Given the description of an element on the screen output the (x, y) to click on. 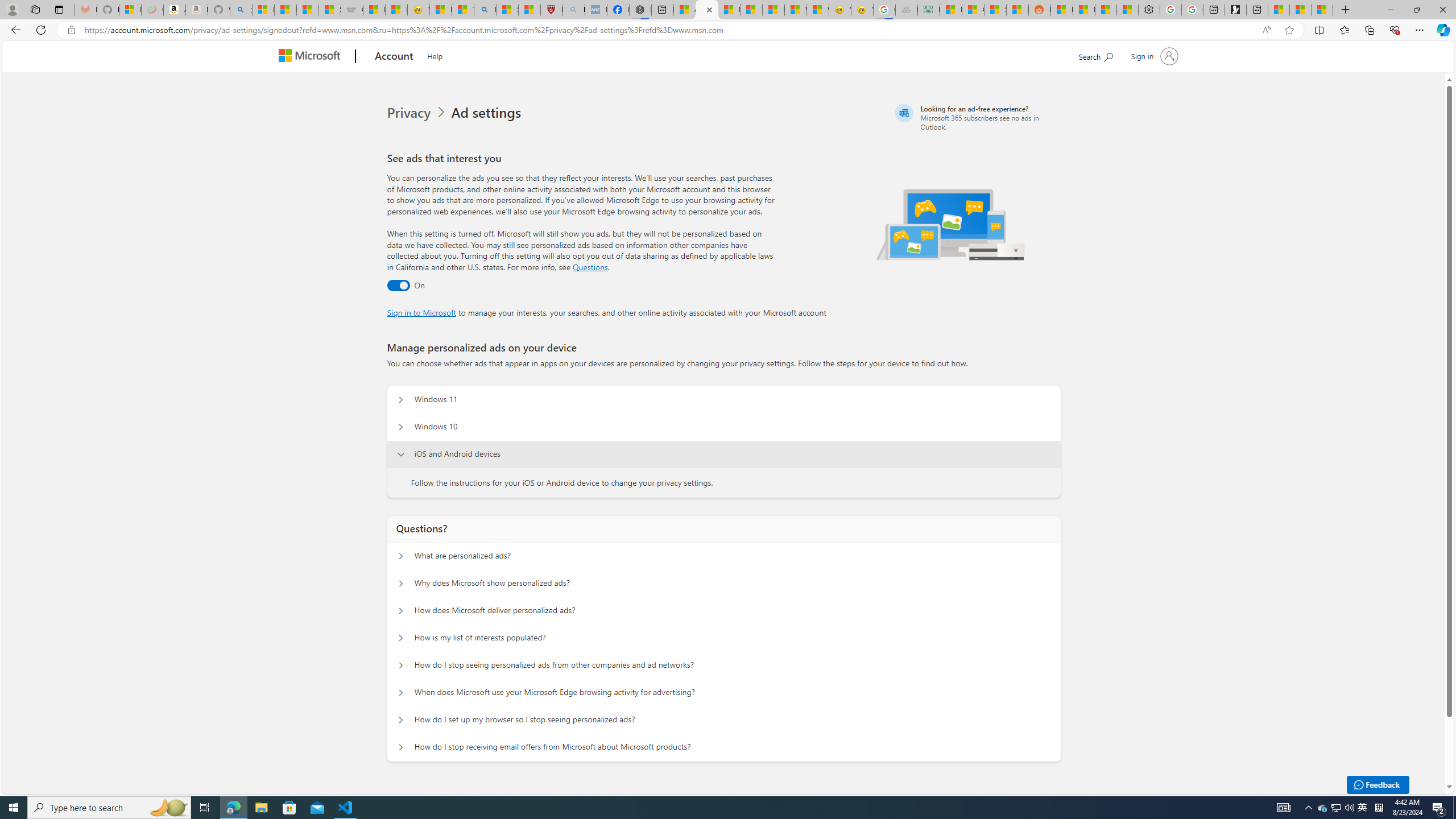
Questions? How does Microsoft deliver personalized ads? (401, 610)
Workspaces (34, 9)
Restore (1416, 9)
Sign in to Microsoft (422, 311)
Illustration of multiple devices (951, 224)
New Tab (1346, 9)
Microsoft account | Privacy (706, 9)
Account (394, 56)
